Given the description of an element on the screen output the (x, y) to click on. 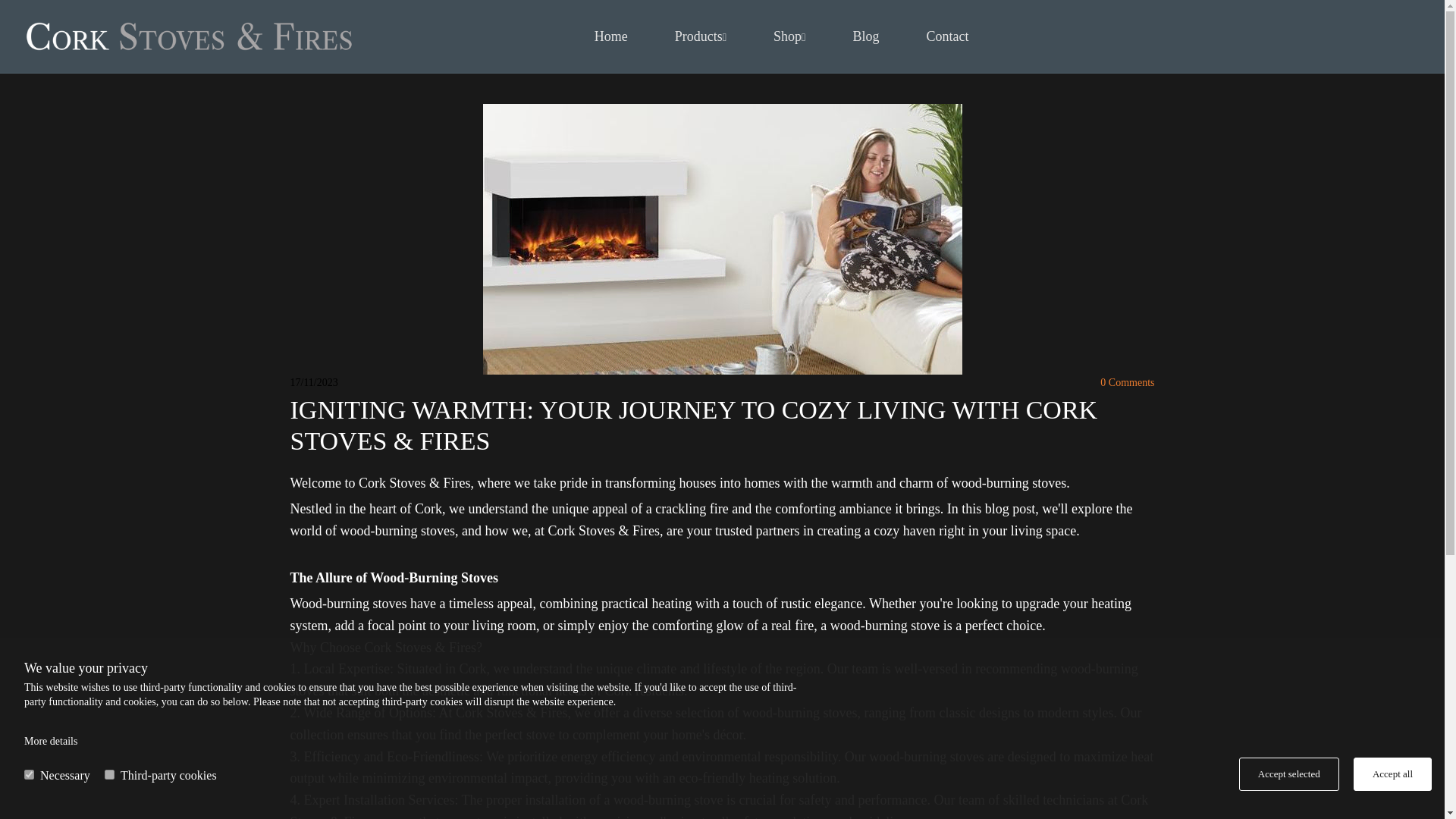
Shop (789, 36)
More details (50, 740)
on (109, 774)
Accept all (1392, 774)
on (28, 774)
Blog (865, 36)
Accept selected (1289, 774)
Home (611, 36)
Contact (946, 36)
Products (700, 36)
